Given the description of an element on the screen output the (x, y) to click on. 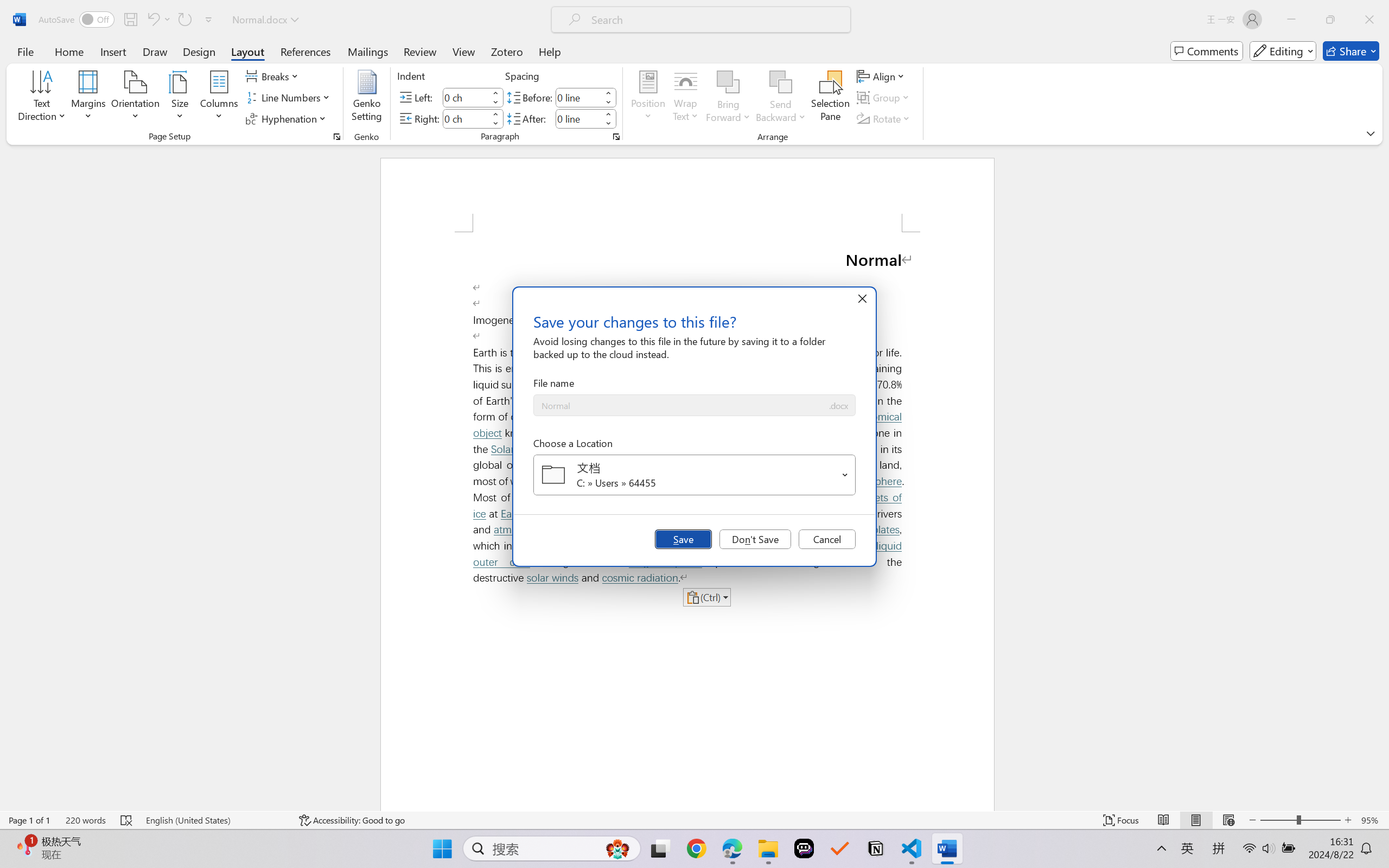
Spelling and Grammar Check Errors (126, 819)
Undo Paste Destination Formatting (152, 19)
Action: Paste alternatives (706, 597)
Notion (875, 848)
Rotate (884, 118)
Open (844, 474)
